Given the description of an element on the screen output the (x, y) to click on. 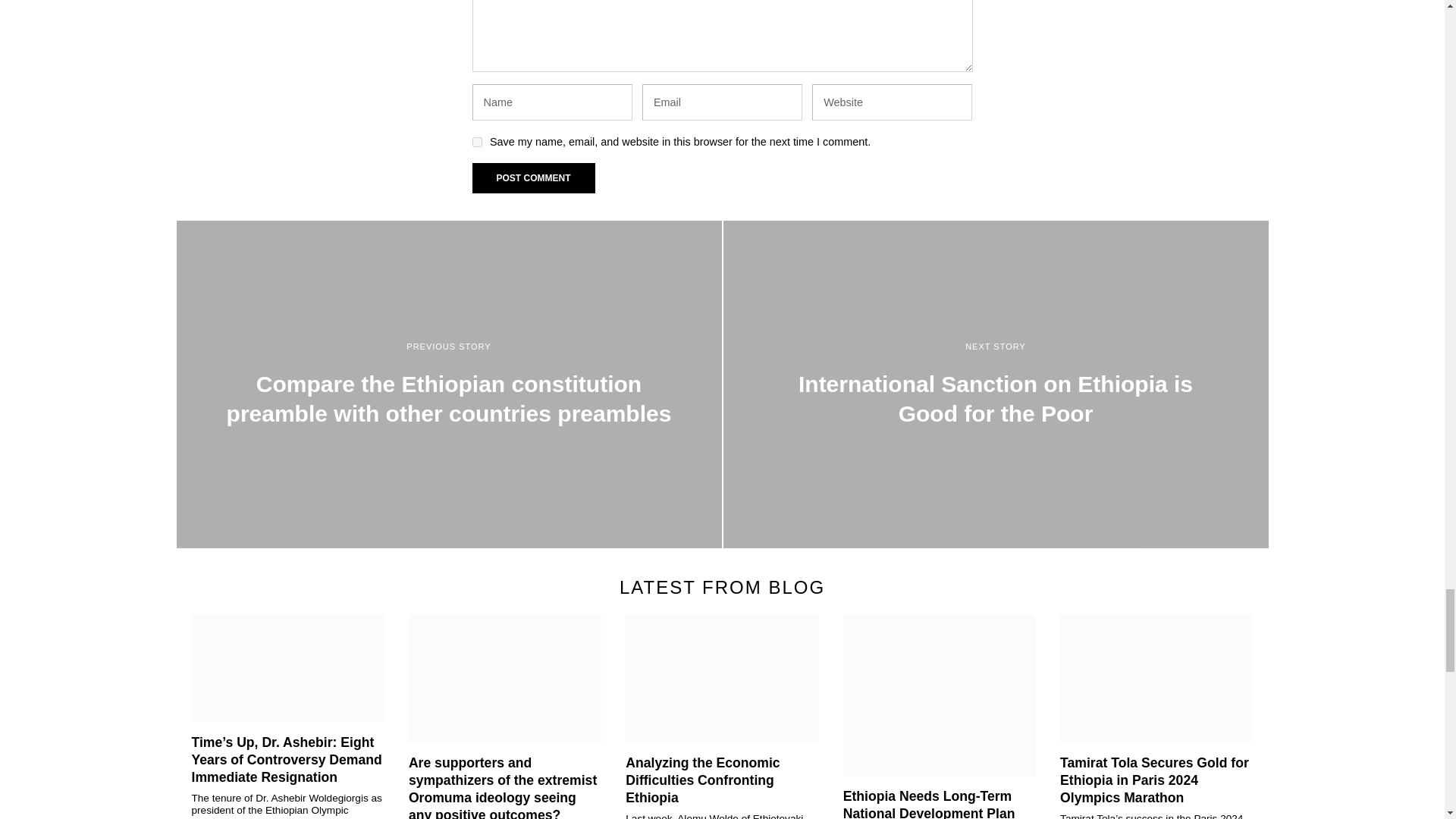
yes (476, 142)
Post Comment (532, 177)
